Given the description of an element on the screen output the (x, y) to click on. 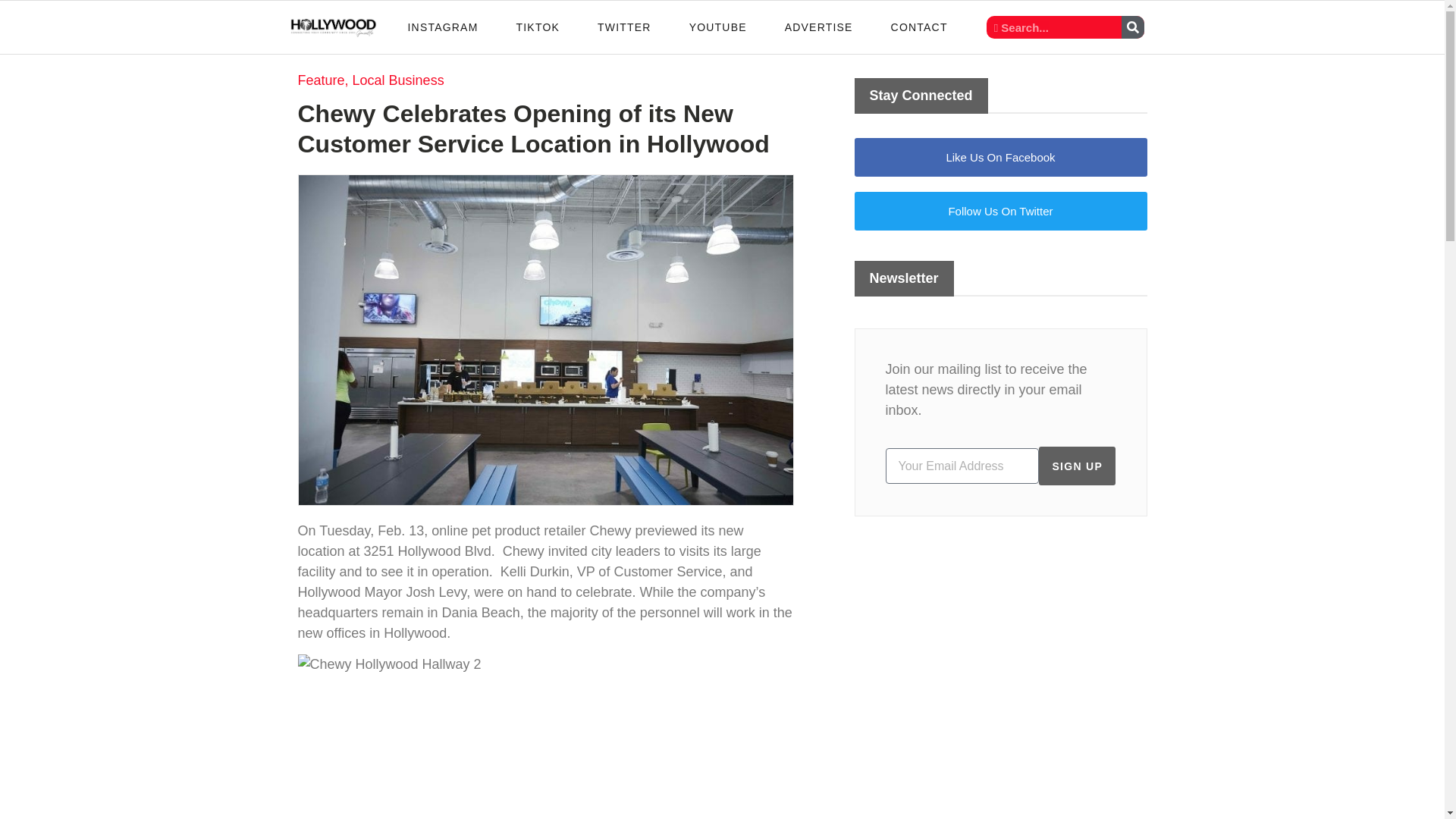
Local Business (398, 79)
Feature (320, 79)
SIGN UP (1077, 465)
ADVERTISE (818, 26)
TIKTOK (537, 26)
Follow Us On Twitter (1000, 210)
TWITTER (623, 26)
INSTAGRAM (443, 26)
CONTACT (919, 26)
Like Us On Facebook (1000, 157)
